Given the description of an element on the screen output the (x, y) to click on. 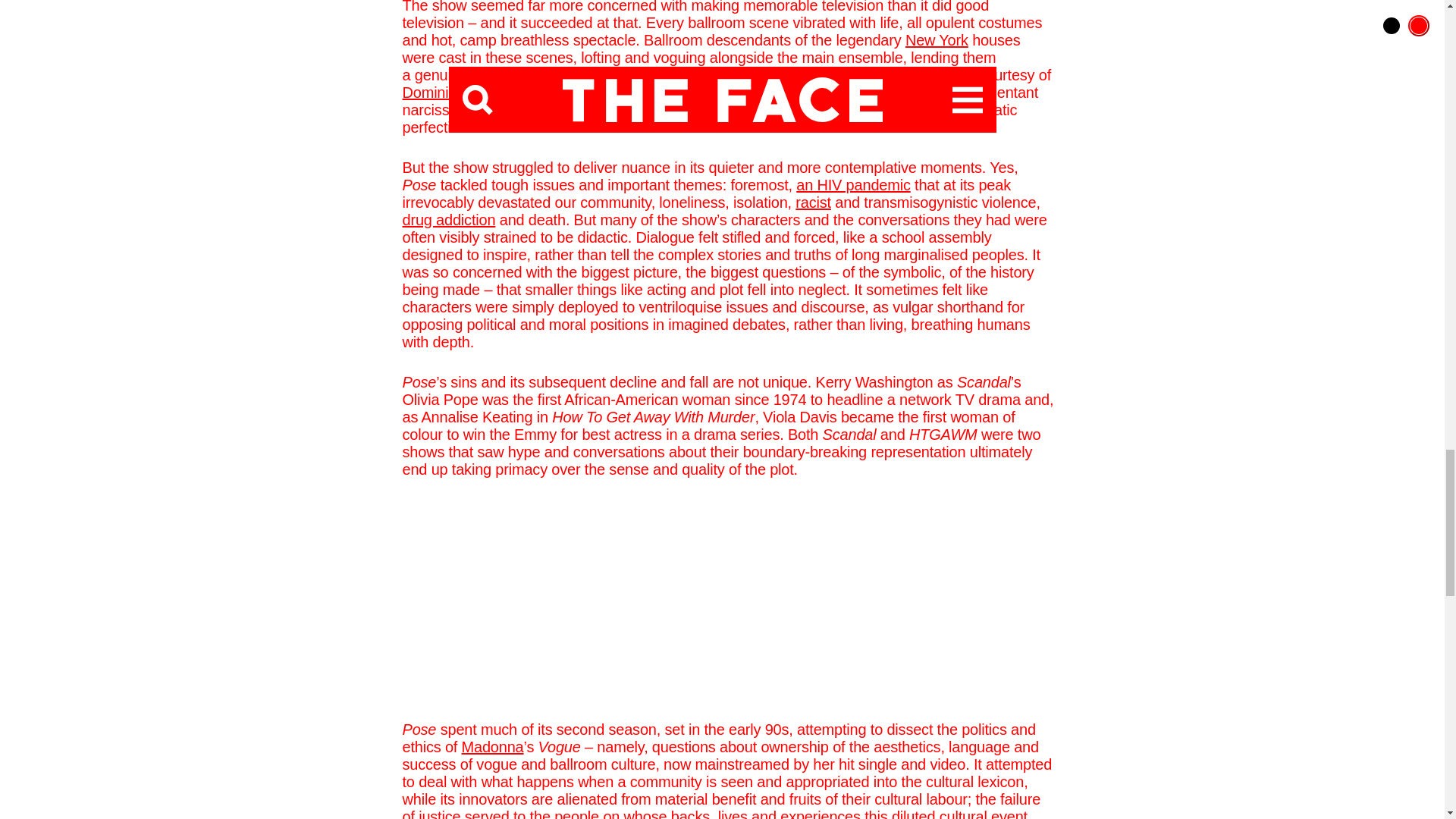
New York (936, 39)
Madonna (492, 746)
racist (812, 202)
drug addiction (448, 219)
Dominique Jackson (466, 92)
an HIV pandemic (853, 184)
